Given the description of an element on the screen output the (x, y) to click on. 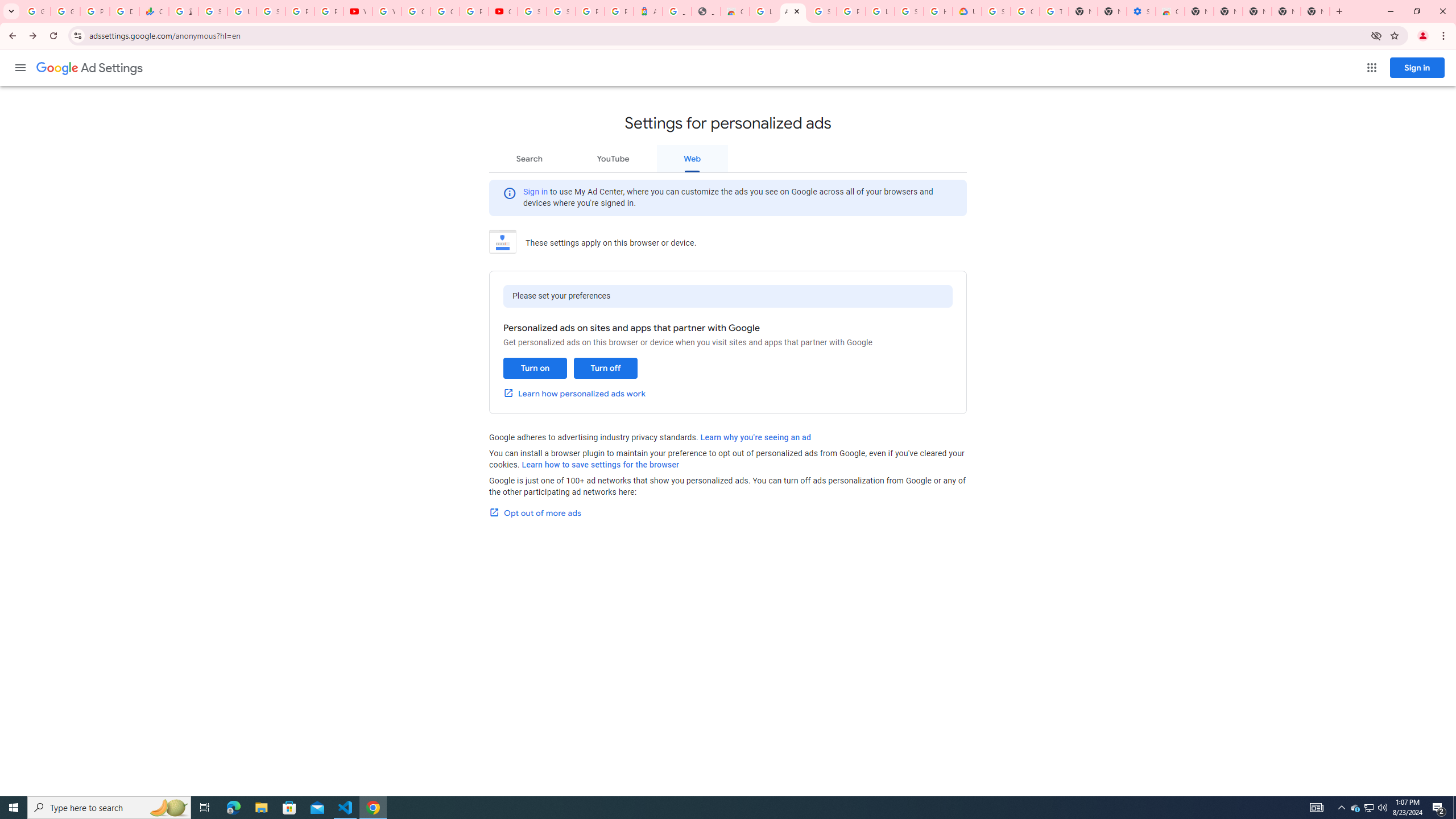
Sign in - Google Accounts (908, 11)
Back (10, 35)
View site information (77, 35)
Sign in - Google Accounts (560, 11)
Minimize (1390, 11)
Atour Hotel - Google hotels (648, 11)
Web (692, 157)
Bookmark this tab (1393, 35)
You (1422, 35)
Reload (52, 35)
Address and search bar (726, 35)
